Given the description of an element on the screen output the (x, y) to click on. 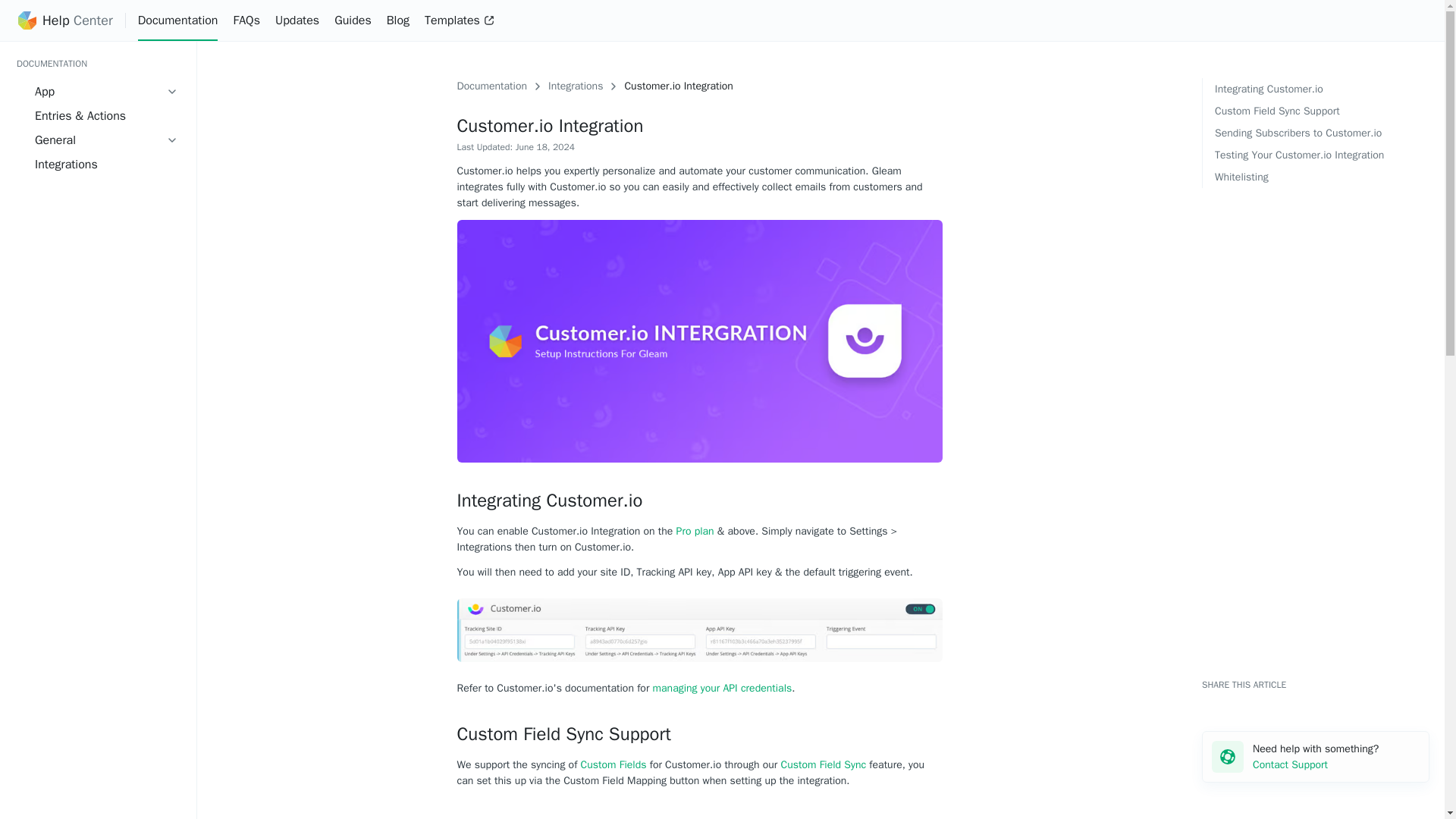
Help Center (77, 20)
Share article on X (1225, 703)
Share article on Facebook (1208, 703)
Share article on Linkedin (1244, 703)
